Given the description of an element on the screen output the (x, y) to click on. 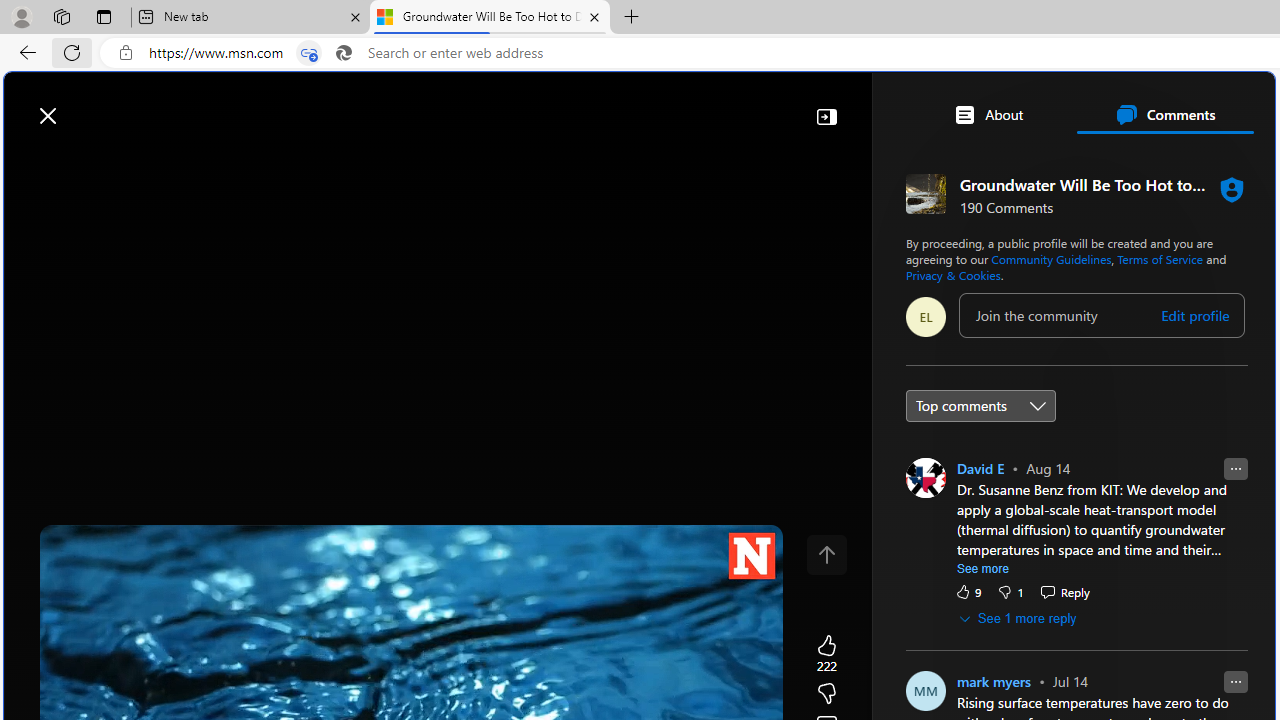
Collapse (826, 115)
Search icon (343, 53)
David E (980, 467)
mark myers (993, 681)
Personalize (1195, 162)
Class: button-glyph (29, 162)
9 Like (967, 591)
